Given the description of an element on the screen output the (x, y) to click on. 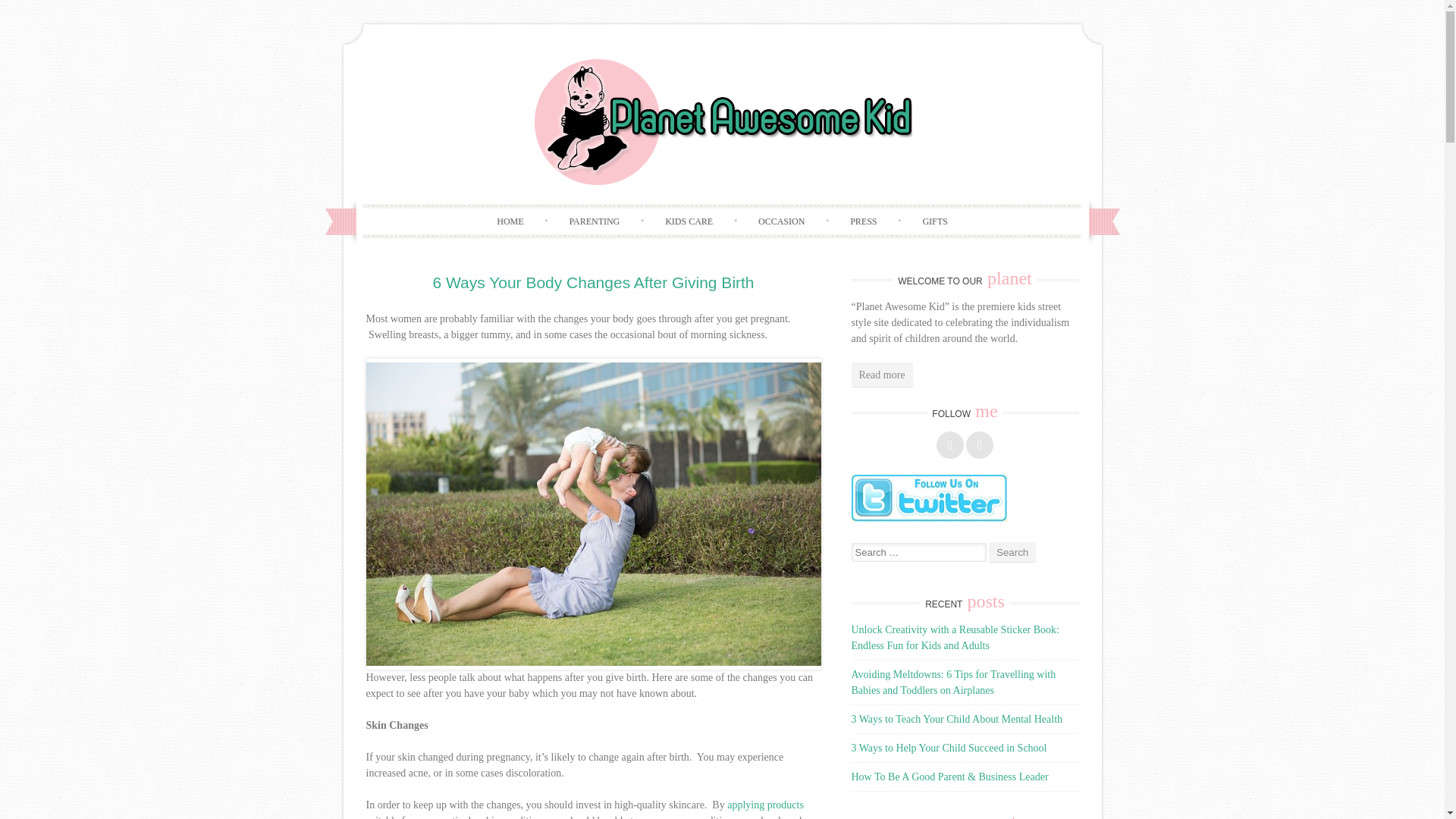
Follow me on Facebook (949, 444)
HOME (510, 221)
Search (1011, 552)
Search (1011, 552)
Read more (881, 374)
Search (1011, 552)
OCCASION (780, 221)
Follow me on Twitter (979, 444)
